Given the description of an element on the screen output the (x, y) to click on. 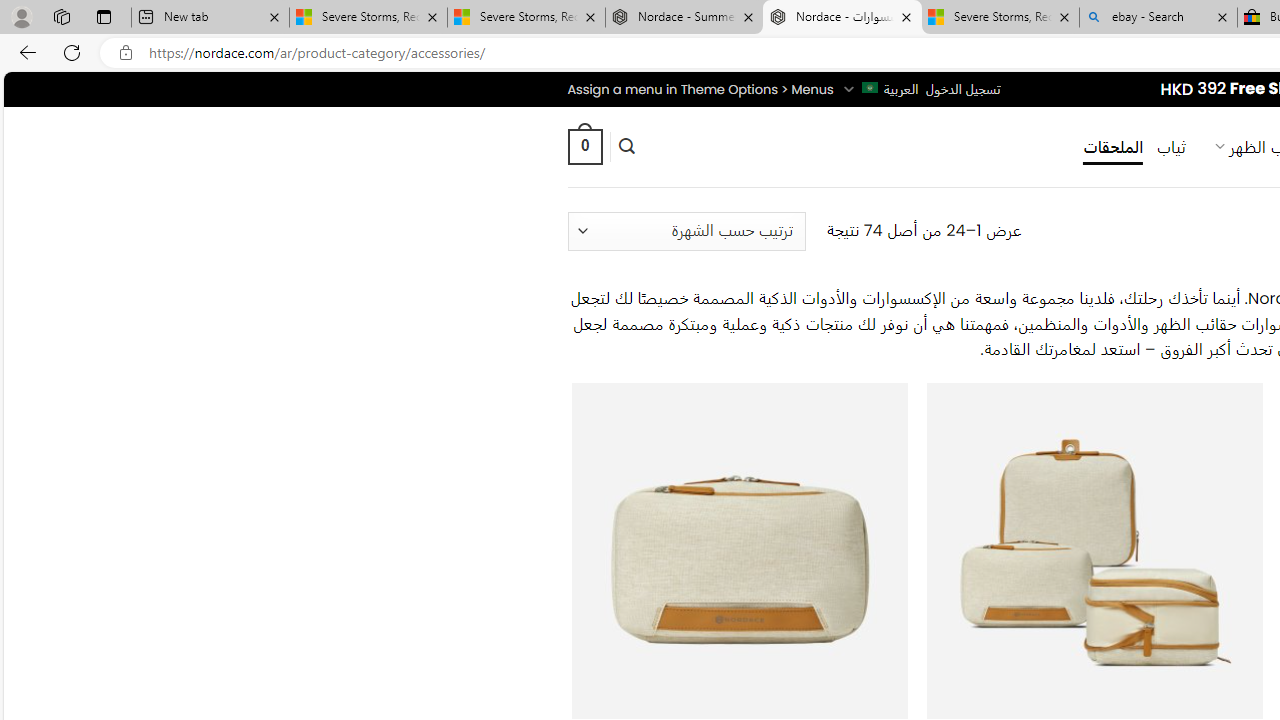
Refresh (72, 52)
Assign a menu in Theme Options > Menus (700, 89)
View site information (125, 53)
Back (24, 52)
Tab actions menu (104, 16)
New tab (210, 17)
Nordace - Summer Adventures 2024 (683, 17)
Workspaces (61, 16)
  0   (584, 146)
